Given the description of an element on the screen output the (x, y) to click on. 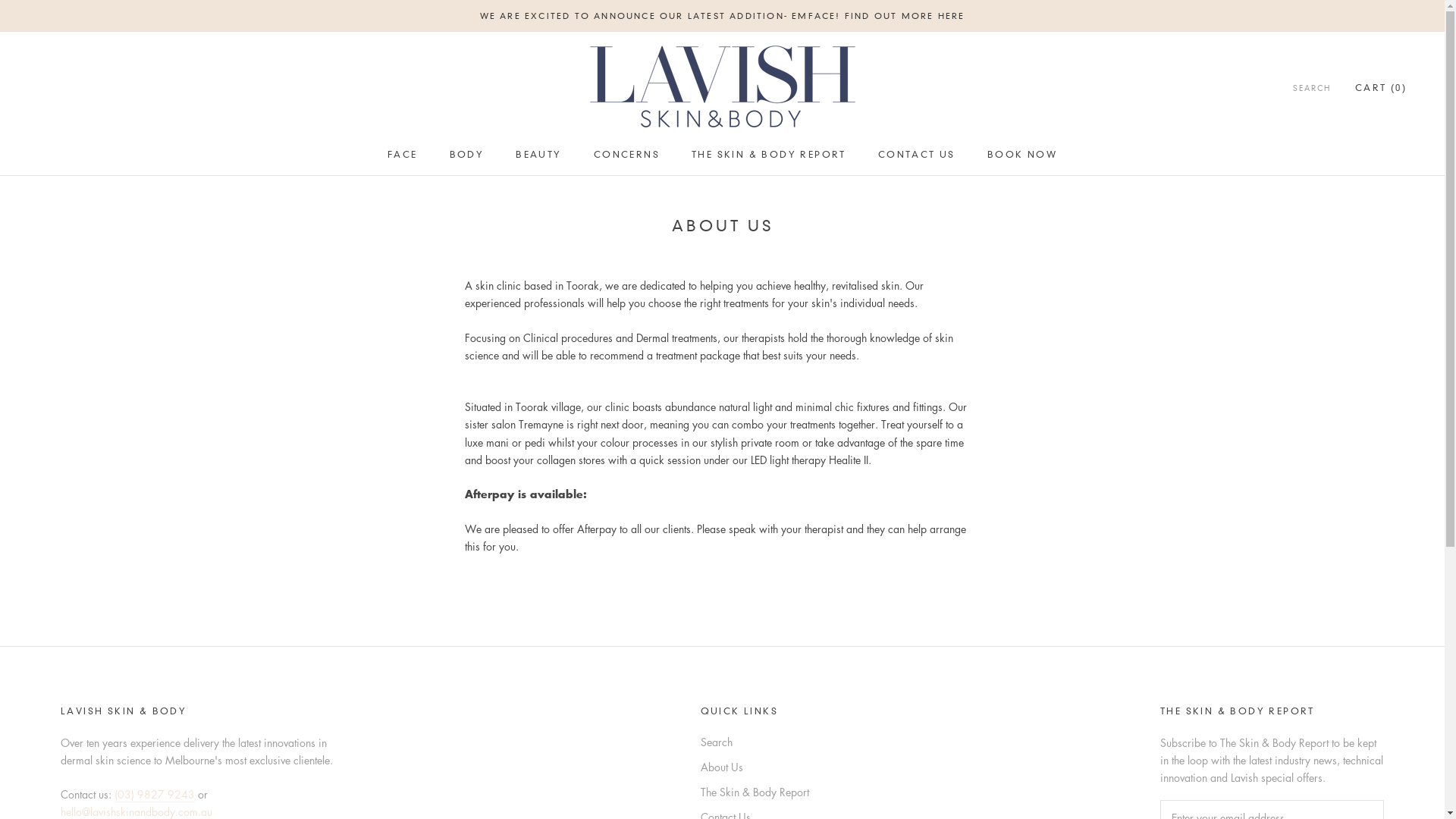
About Us Element type: text (754, 767)
BEAUTY
BEAUTY Element type: text (538, 154)
CONTACT US
CONTACT US Element type: text (916, 154)
FACE Element type: text (402, 154)
BODY Element type: text (466, 154)
Search Element type: text (754, 741)
BOOK NOW
BOOK NOW Element type: text (1022, 154)
SEARCH Element type: text (1311, 88)
CART (0) Element type: text (1380, 87)
CONCERNS Element type: text (626, 154)
(03) 9827 9243 Element type: text (154, 793)
The Skin & Body Report Element type: text (754, 792)
THE SKIN & BODY REPORT
THE SKIN & BODY REPORT Element type: text (768, 154)
